Given the description of an element on the screen output the (x, y) to click on. 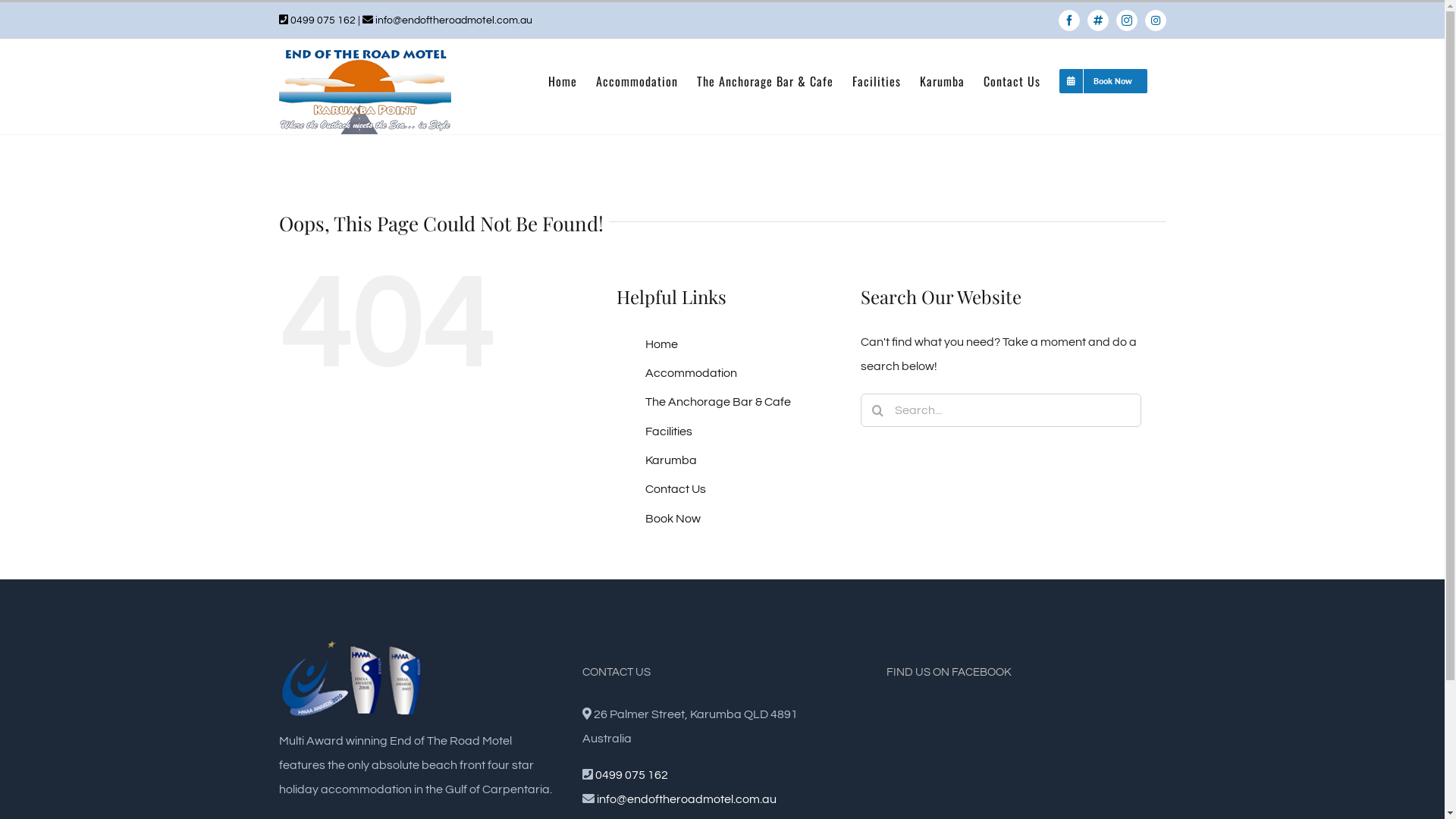
Facebook Element type: text (1068, 20)
Karumba Element type: text (941, 80)
Instagram Element type: text (1155, 20)
The Anchorage Bar & Cafe Element type: text (764, 80)
Email Element type: text (1097, 20)
Accommodation Element type: text (691, 373)
info@endoftheroadmotel.com.au Element type: text (452, 20)
Home Element type: text (561, 80)
Book Now Element type: text (672, 518)
The Anchorage Bar & Cafe Element type: text (717, 401)
Accommodation Element type: text (636, 80)
0499 075 162 Element type: text (631, 774)
0499 075 162 Element type: text (321, 20)
Karumba Element type: text (670, 460)
Home Element type: text (661, 344)
Facilities Element type: text (668, 431)
Book Now Element type: text (1102, 80)
Contact Us Element type: text (675, 489)
Facilities Element type: text (876, 80)
Instagram Element type: text (1126, 20)
info@endoftheroadmotel.com.au Element type: text (686, 799)
Contact Us Element type: text (1010, 80)
